Given the description of an element on the screen output the (x, y) to click on. 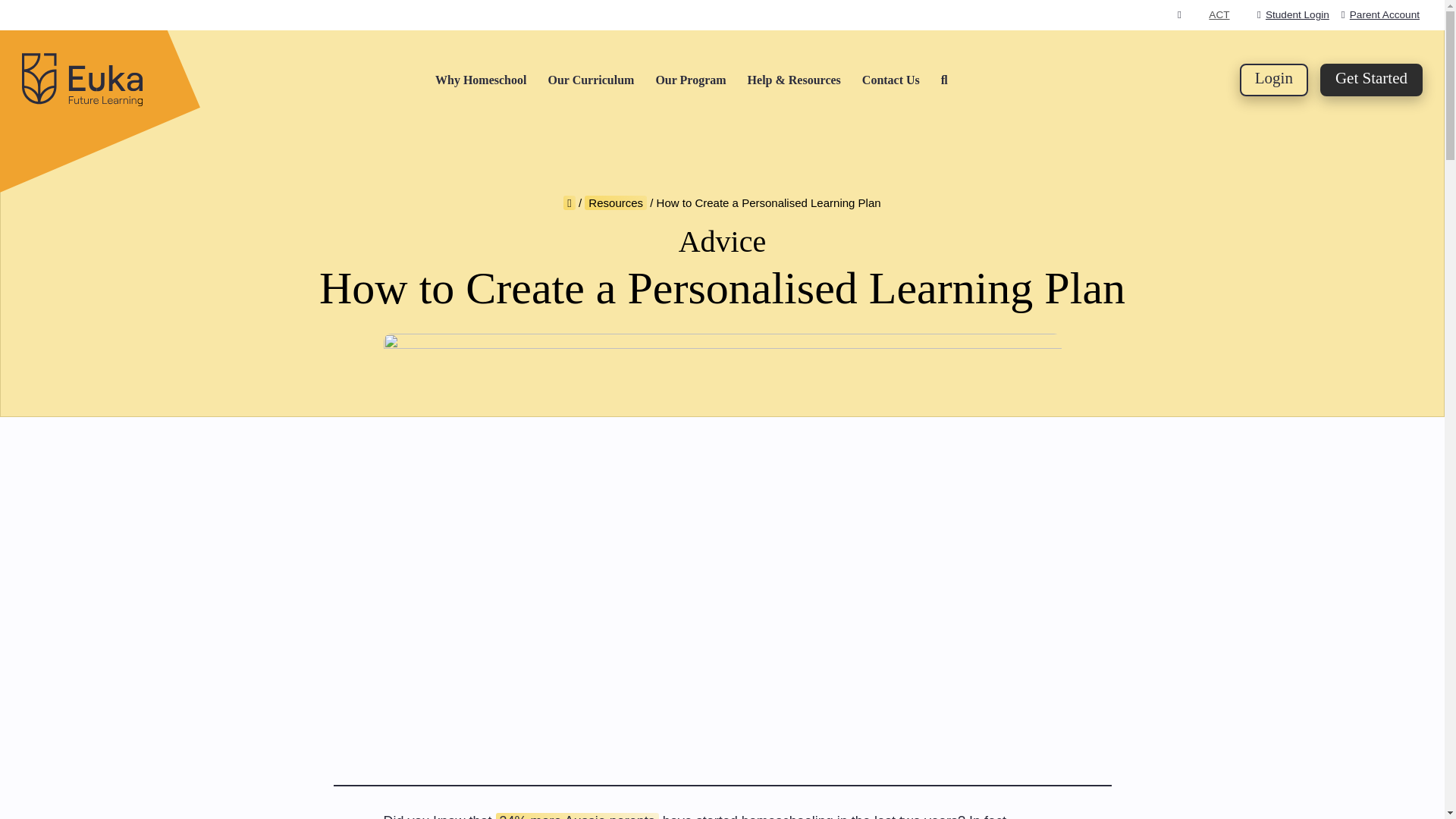
Our Program (690, 80)
Get Started (1371, 79)
Our Curriculum (590, 80)
Parent Account (1379, 14)
Login (1273, 79)
Why Homeschool (480, 80)
Student Login (1293, 14)
Contact Us (890, 80)
